Given the description of an element on the screen output the (x, y) to click on. 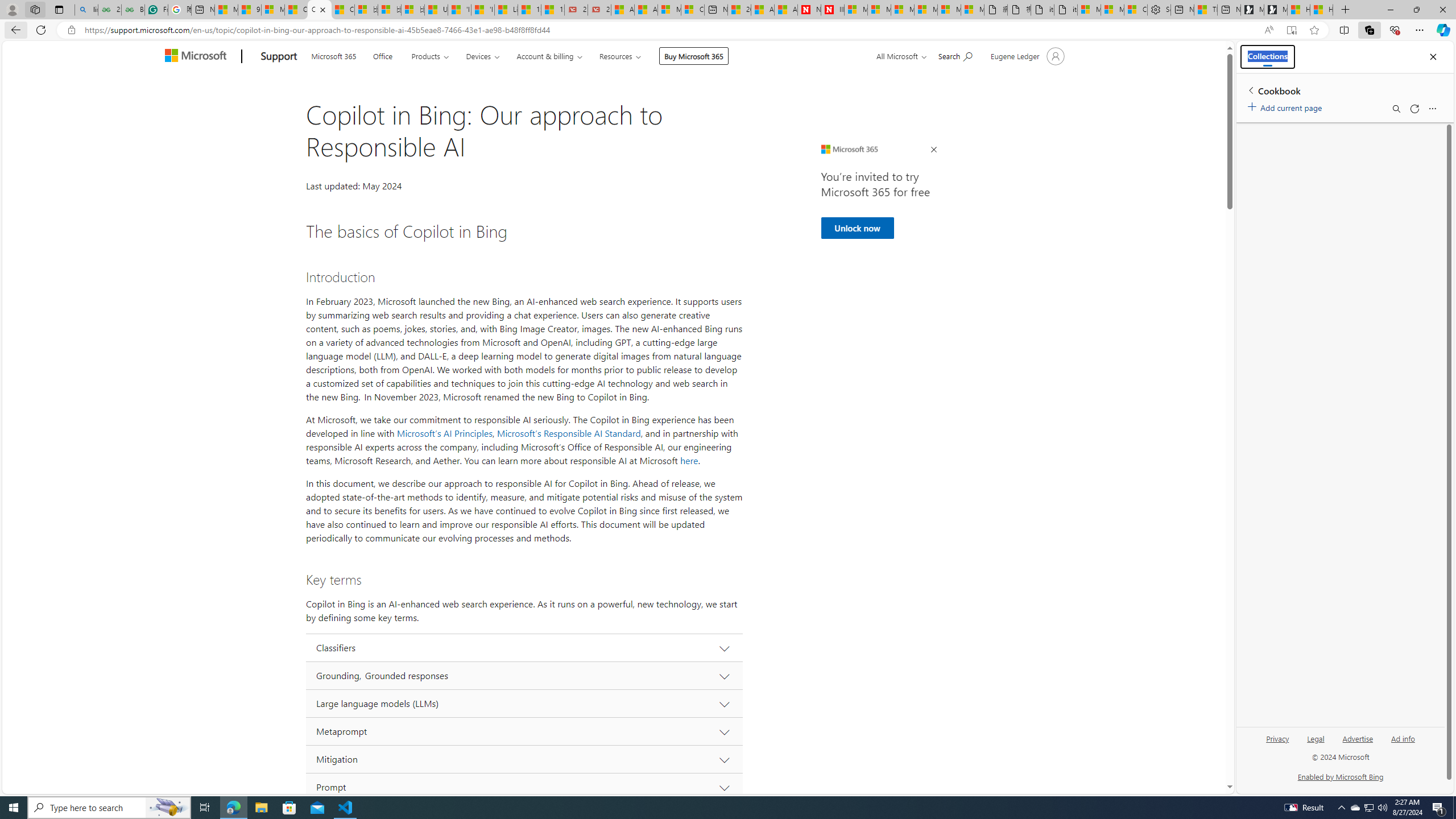
Free AI Writing Assistance for Students | Grammarly (156, 9)
Office (382, 54)
Three Ways To Stop Sweating So Much (1205, 9)
Consumer Health Data Privacy Policy (1135, 9)
Cloud Computing Services | Microsoft Azure (692, 9)
Buy Microsoft 365 (693, 55)
Office (382, 54)
Buy Microsoft 365 (693, 55)
